Given the description of an element on the screen output the (x, y) to click on. 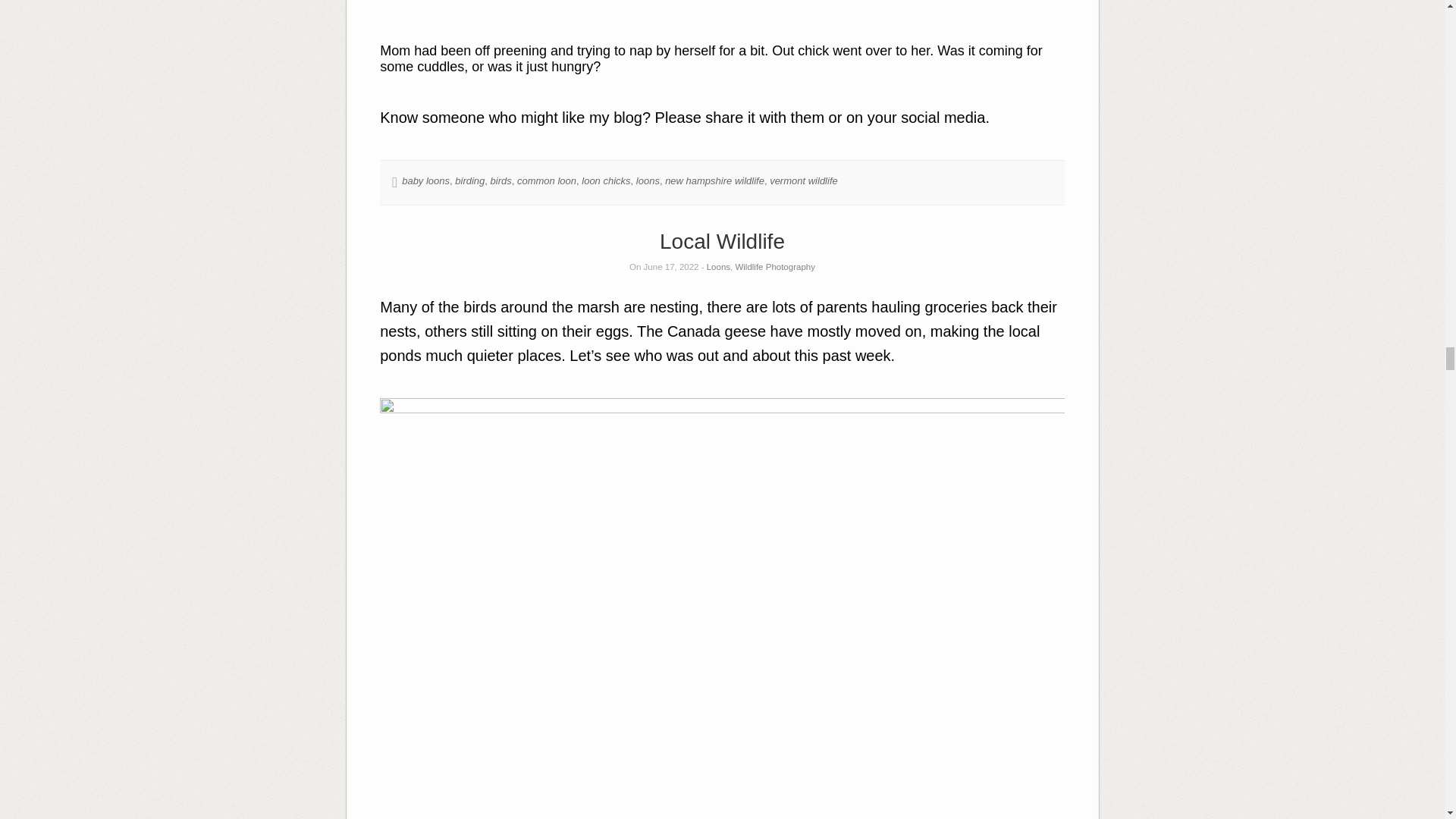
baby loons (425, 180)
birding (469, 180)
vermont wildlife (804, 180)
new hampshire wildlife (714, 180)
Loons (718, 266)
common loon (546, 180)
Wildlife Photography (774, 266)
birds (501, 180)
loon chicks (605, 180)
Local Wildlife (721, 241)
